Given the description of an element on the screen output the (x, y) to click on. 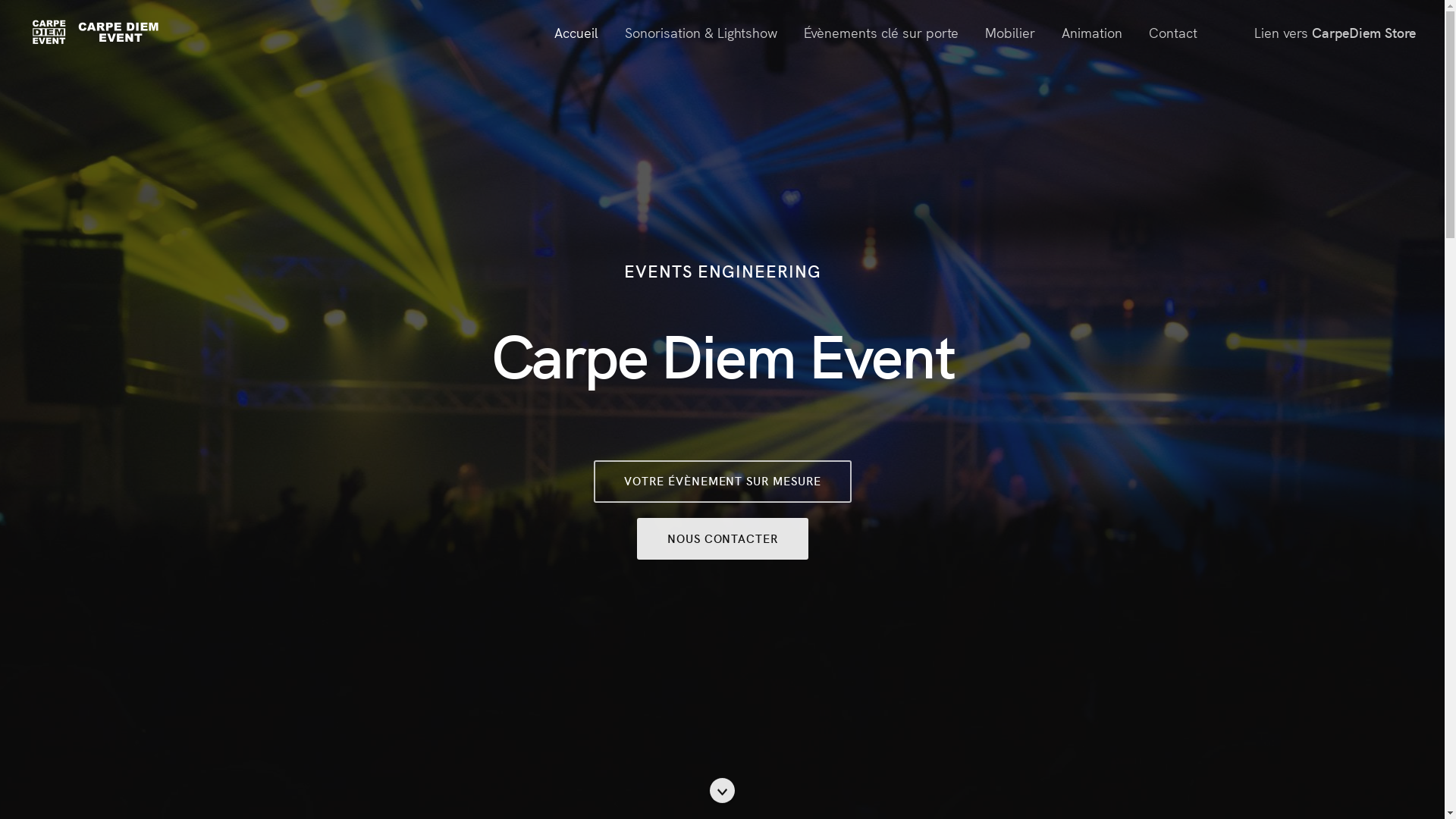
Lien vers CarpeDiem Store Element type: text (1334, 32)
  Element type: text (1225, 32)
Sonorisation & Lightshow Element type: text (700, 32)
Accueil Element type: text (576, 32)
Animation Element type: text (1091, 32)
NOUS CONTACTER Element type: text (722, 538)
Mobilier Element type: text (1010, 32)
Contact Element type: text (1172, 32)
